Given the description of an element on the screen output the (x, y) to click on. 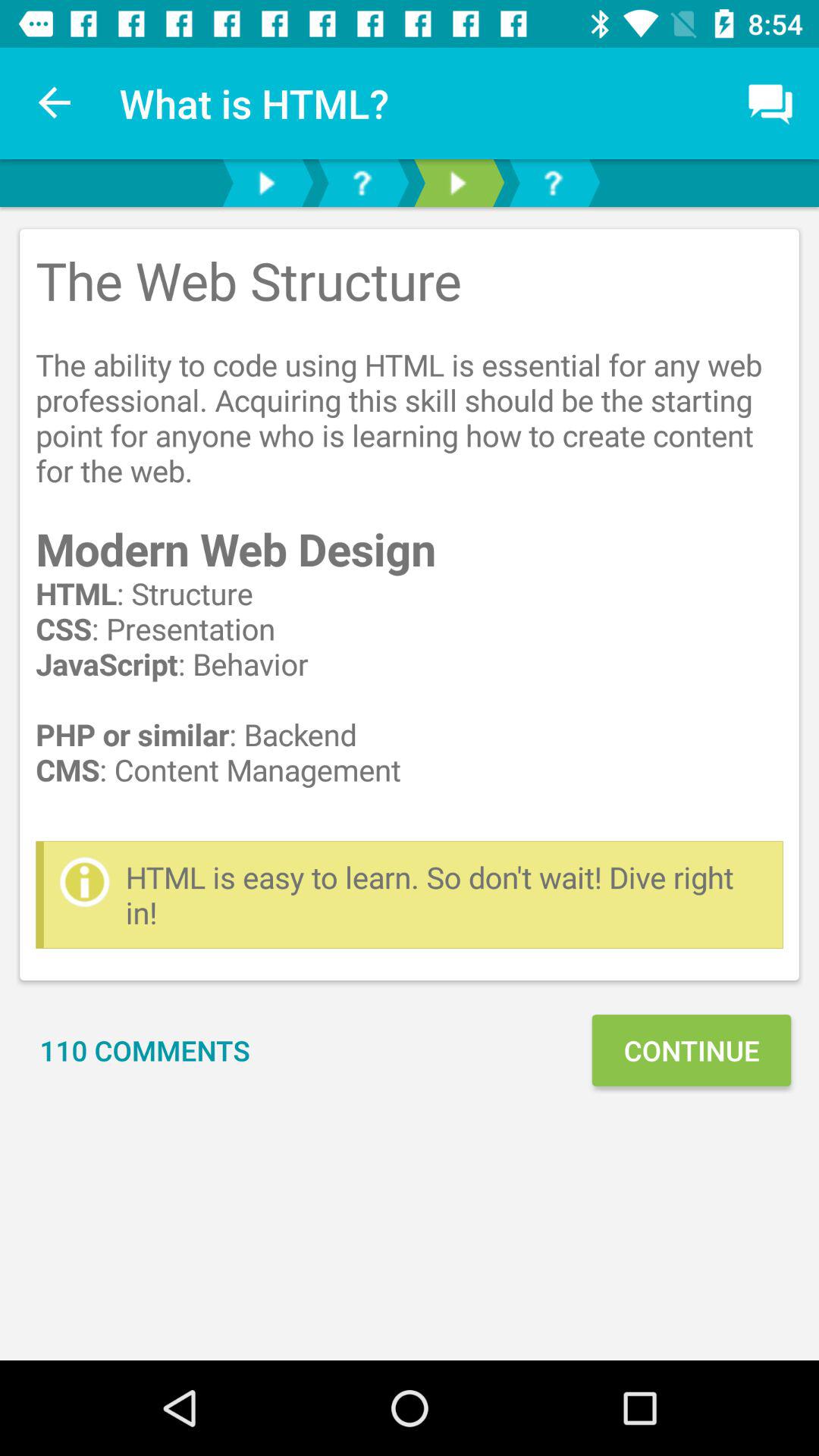
open icon at the bottom right corner (691, 1050)
